Given the description of an element on the screen output the (x, y) to click on. 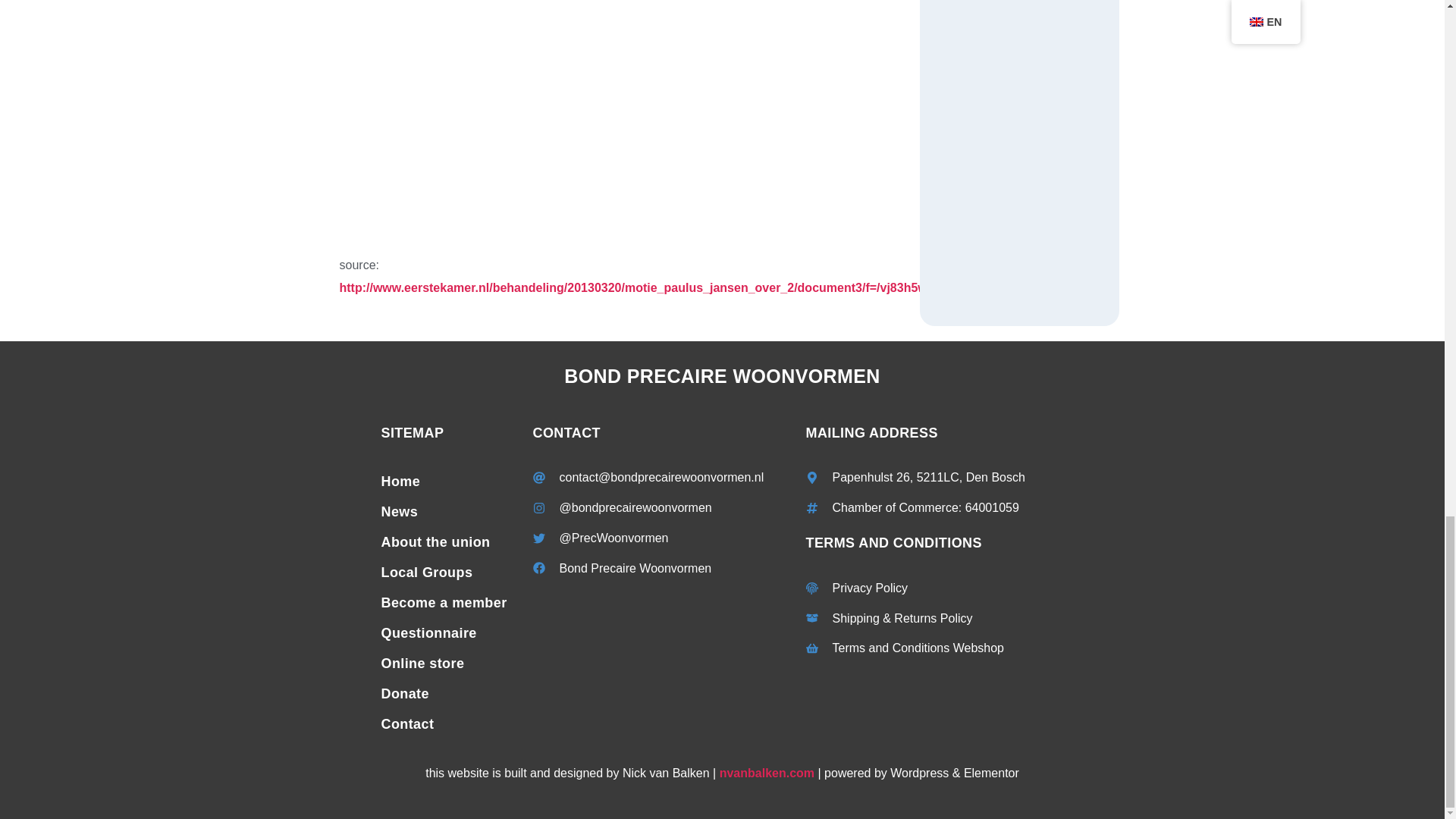
Help us in your and our struggle (448, 603)
motion anti-squat instead of temporary rental (569, 126)
